Given the description of an element on the screen output the (x, y) to click on. 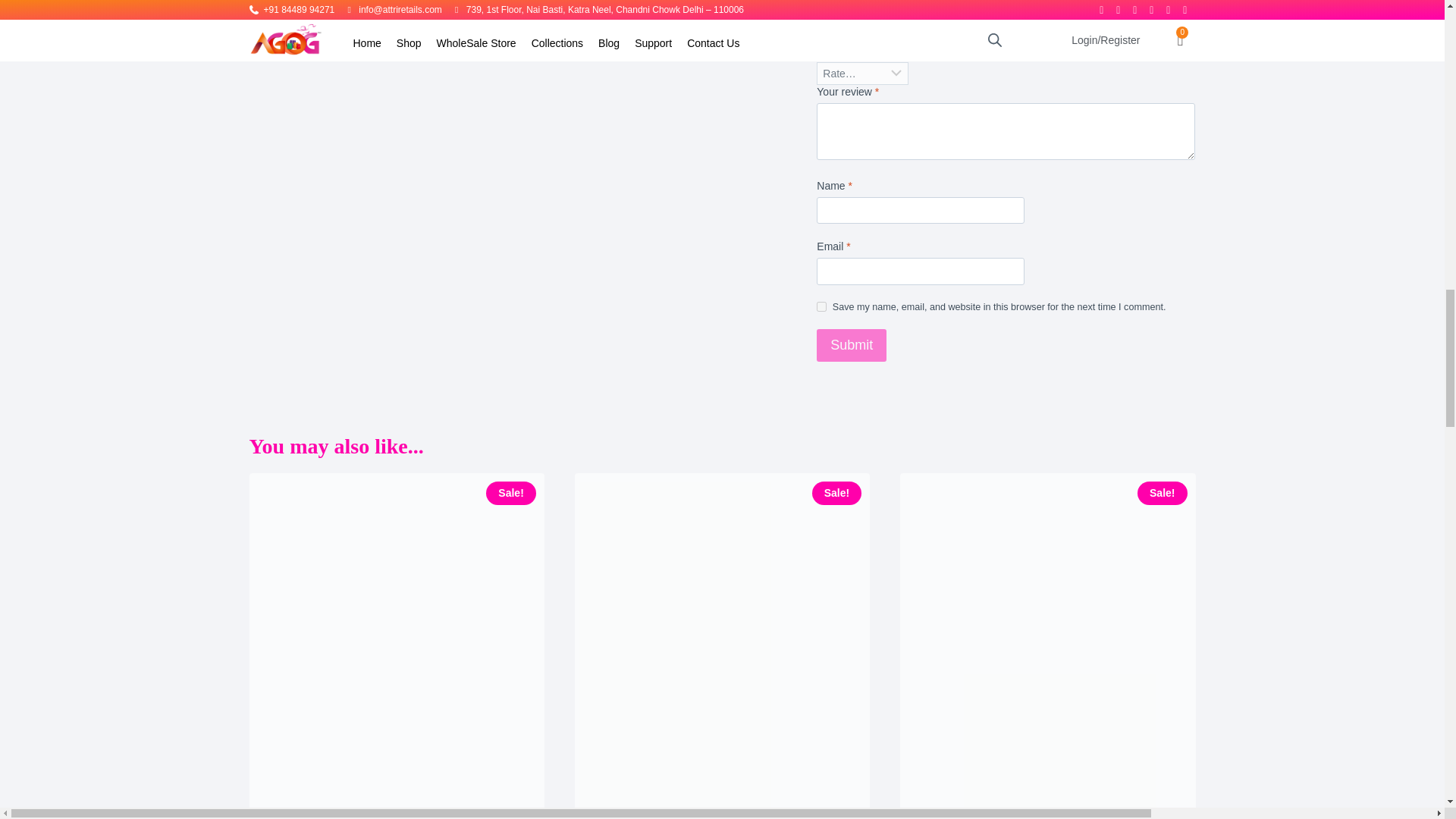
yes (821, 307)
Submit (851, 345)
